Given the description of an element on the screen output the (x, y) to click on. 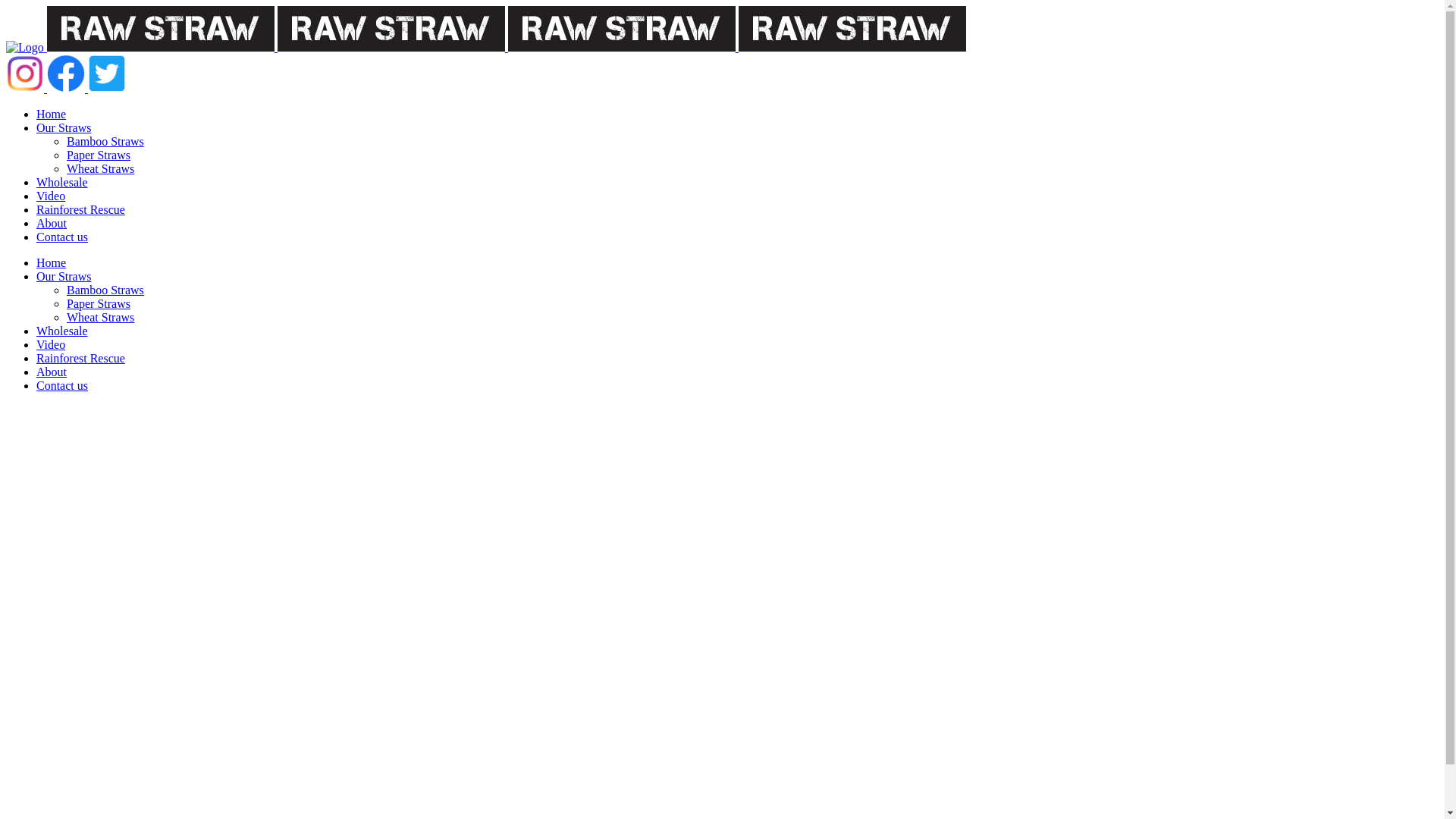
Bamboo Straws Element type: text (105, 140)
Contact us Element type: text (61, 385)
Contact us Element type: text (61, 236)
Rainforest Rescue Element type: text (80, 357)
Rainforest Rescue Element type: text (80, 209)
Wholesale Element type: text (61, 330)
Our Straws Element type: text (63, 127)
Paper Straws Element type: text (98, 154)
Bamboo Straws Element type: text (105, 289)
Wheat Straws Element type: text (100, 316)
Video Element type: text (50, 344)
Our Straws Element type: text (63, 275)
Wheat Straws Element type: text (100, 168)
Paper Straws Element type: text (98, 303)
Video Element type: text (50, 195)
About Element type: text (51, 371)
Home Element type: text (50, 262)
Home Element type: text (50, 113)
Wholesale Element type: text (61, 181)
About Element type: text (51, 222)
